Given the description of an element on the screen output the (x, y) to click on. 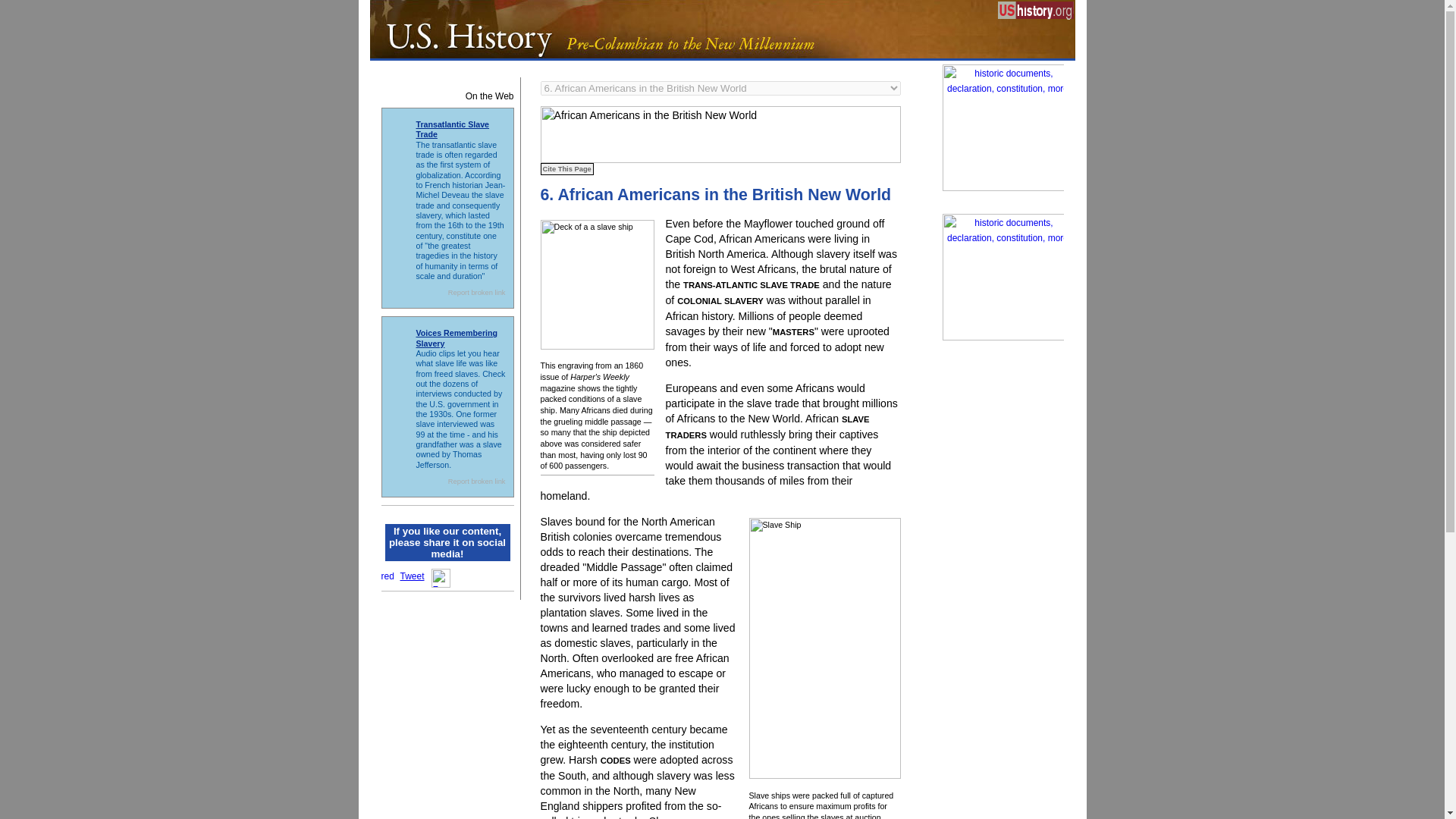
The Broken Link reporting feature is temporarily unavailable (476, 481)
Facebook (439, 578)
Report broken link (476, 292)
Report broken link (476, 481)
reddit (386, 574)
Cite This Page (566, 168)
ushistory.org Homepage (1035, 13)
The Broken Link reporting feature is temporarily unavailable (476, 292)
Tweet (412, 575)
Transatlantic Slave Trade (451, 128)
Voices Remembering Slavery (455, 337)
Cite This Page (566, 168)
On the Web (447, 93)
